Given the description of an element on the screen output the (x, y) to click on. 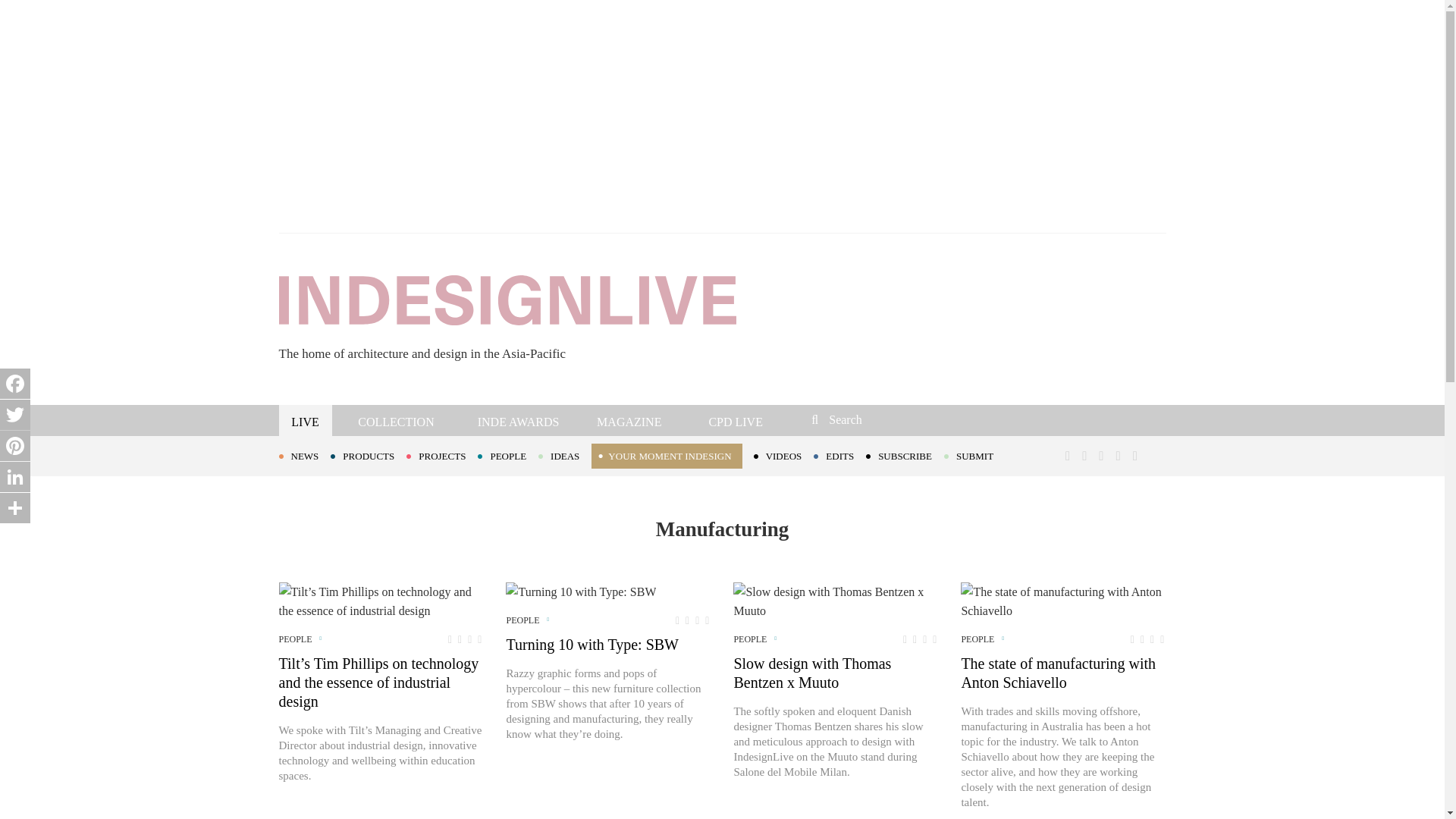
Turning 10 with Type: SBW (580, 591)
Facebook (15, 383)
EDITS (839, 455)
Slow design with Thomas Bentzen x Muuto (835, 600)
PROJECTS (441, 455)
The state of manufacturing with Anton Schiavello (1063, 600)
PEOPLE (507, 455)
VIDEOS (783, 455)
SUBSCRIBE (904, 455)
PRODUCTS (368, 455)
